Given the description of an element on the screen output the (x, y) to click on. 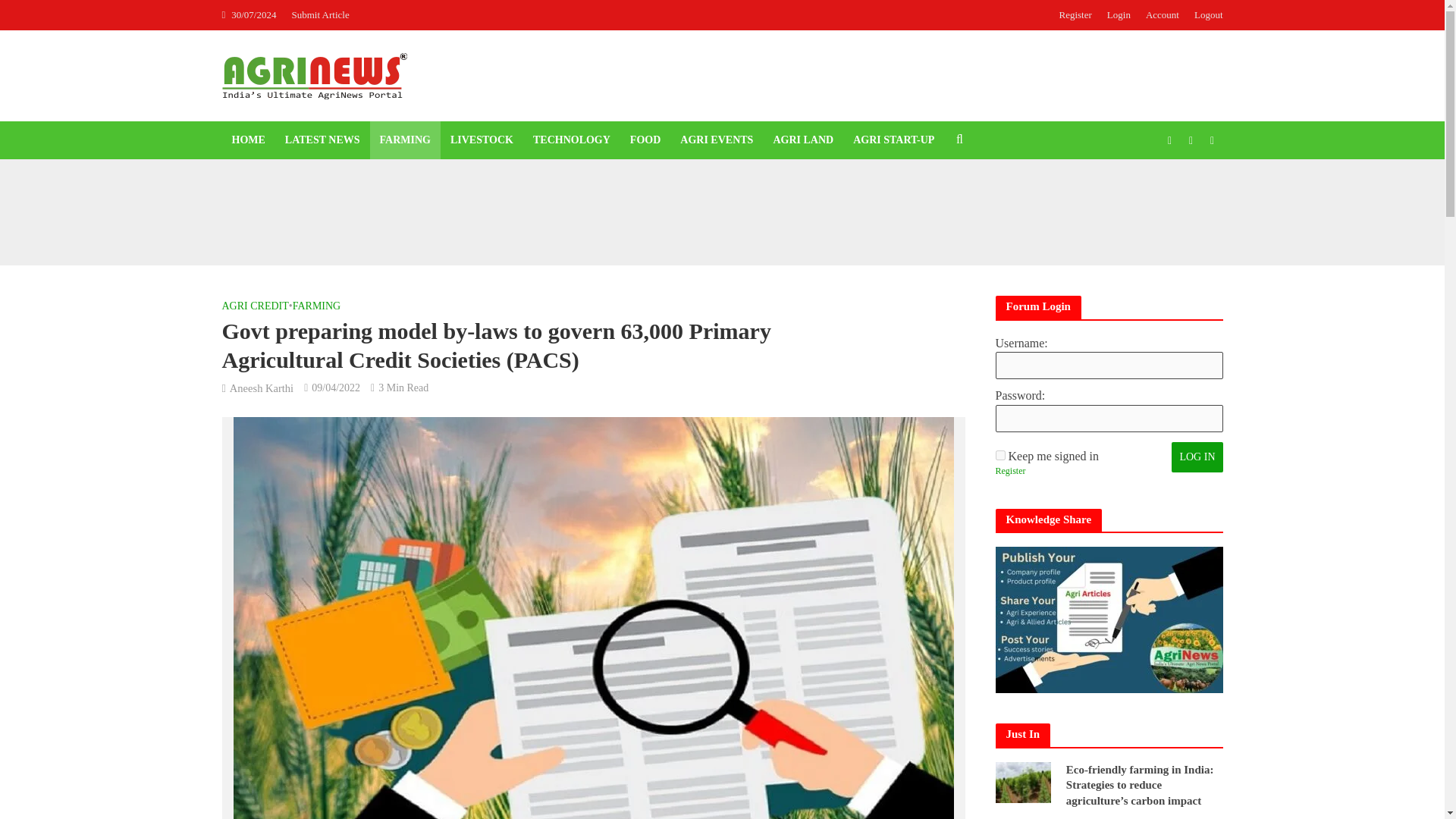
TECHNOLOGY (571, 139)
Register (1009, 471)
AGRI START-UP (893, 139)
Knowledge Share (1108, 619)
LIVESTOCK (481, 139)
LATEST NEWS (322, 139)
FARMING (405, 139)
Login (1118, 15)
Account (1162, 15)
AGRI EVENTS (715, 139)
Submit Article (323, 15)
HOME (248, 139)
Logout (1204, 15)
AGRI LAND (802, 139)
FOOD (644, 139)
